Given the description of an element on the screen output the (x, y) to click on. 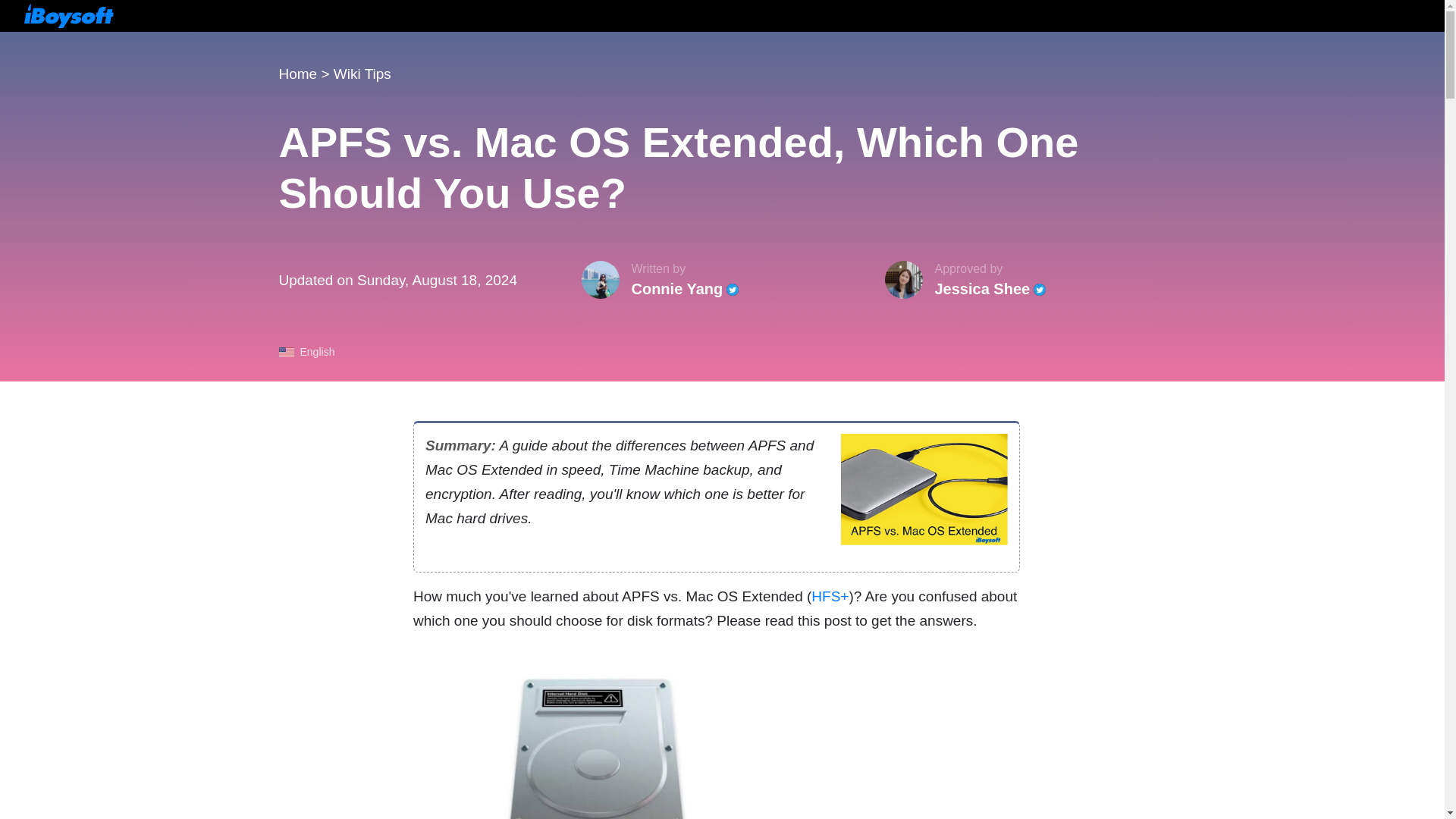
Jessica Shee (981, 288)
Home (298, 73)
Connie Yang (676, 288)
Wiki Tips (362, 73)
